Given the description of an element on the screen output the (x, y) to click on. 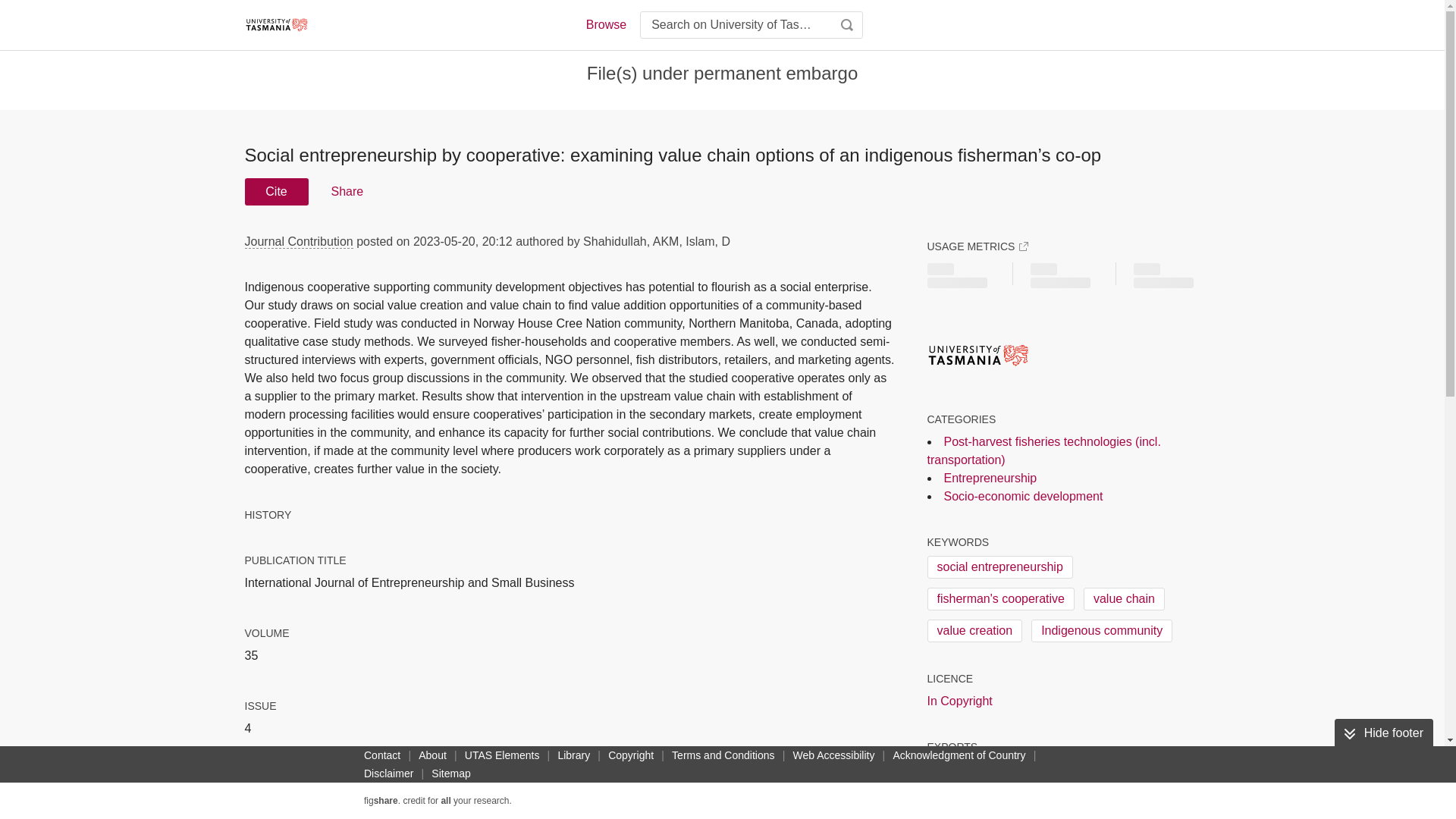
value creation (974, 630)
Hide footer (1383, 733)
Acknowledgment of Country (958, 755)
Web Accessibility (834, 755)
Indigenous community (1101, 630)
fisherman's cooperative (1000, 599)
Contact (381, 755)
Terms and Conditions (722, 755)
In Copyright (958, 701)
Sitemap (450, 773)
Disclaimer (388, 773)
Entrepreneurship (989, 477)
Library (573, 755)
UTAS Elements (502, 755)
social entrepreneurship (998, 567)
